Given the description of an element on the screen output the (x, y) to click on. 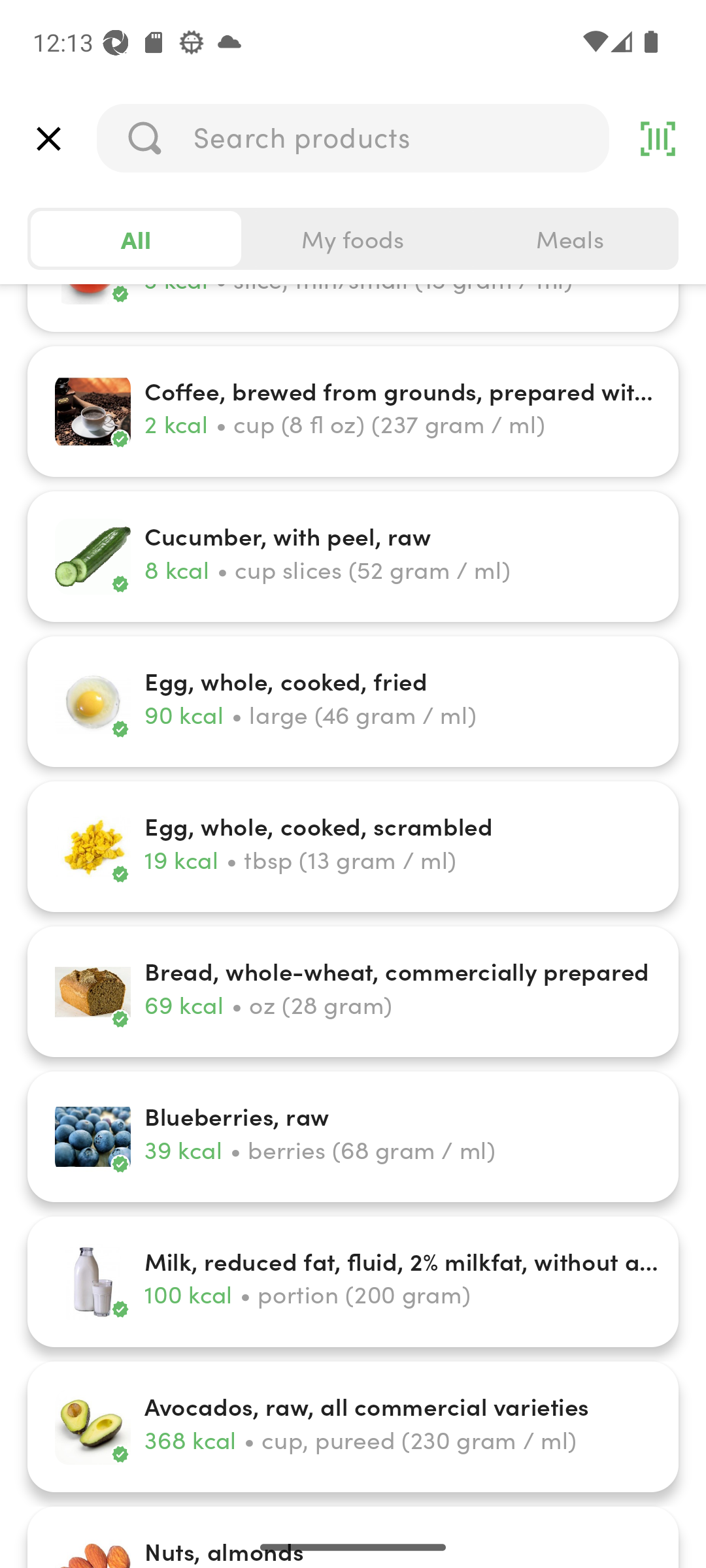
top_left_action (48, 138)
top_right_action (658, 138)
My foods (352, 238)
Meals (569, 238)
Blueberries, raw 39 kcal  • berries (68 gram / ml) (352, 1136)
